Given the description of an element on the screen output the (x, y) to click on. 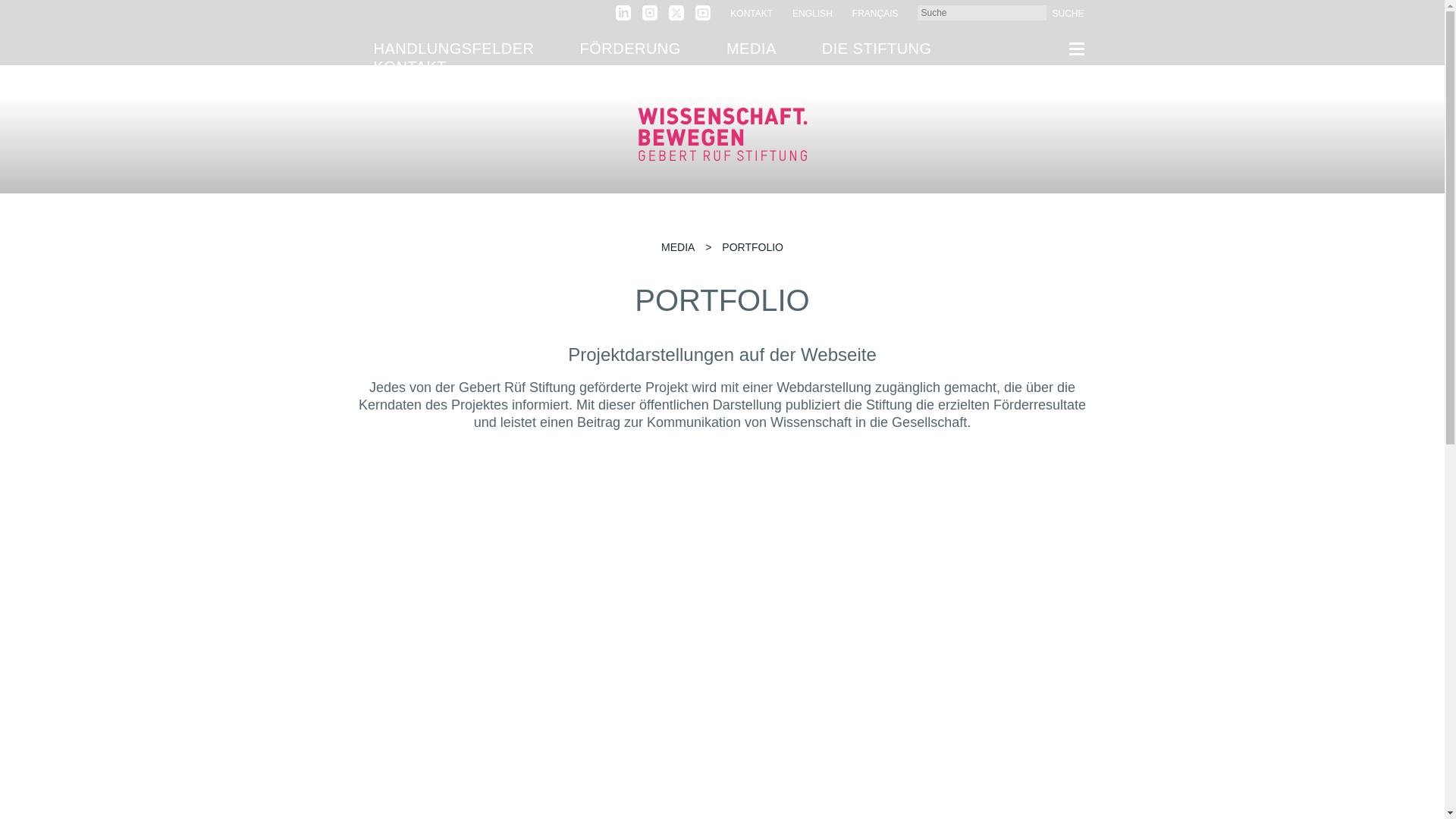
SUCHE (1064, 13)
KONTAKT (751, 13)
ENGLISH (812, 13)
DIE STIFTUNG (877, 48)
HANDLUNGSFELDER (453, 48)
KONTAKT (409, 66)
MEDIA (751, 48)
